Given the description of an element on the screen output the (x, y) to click on. 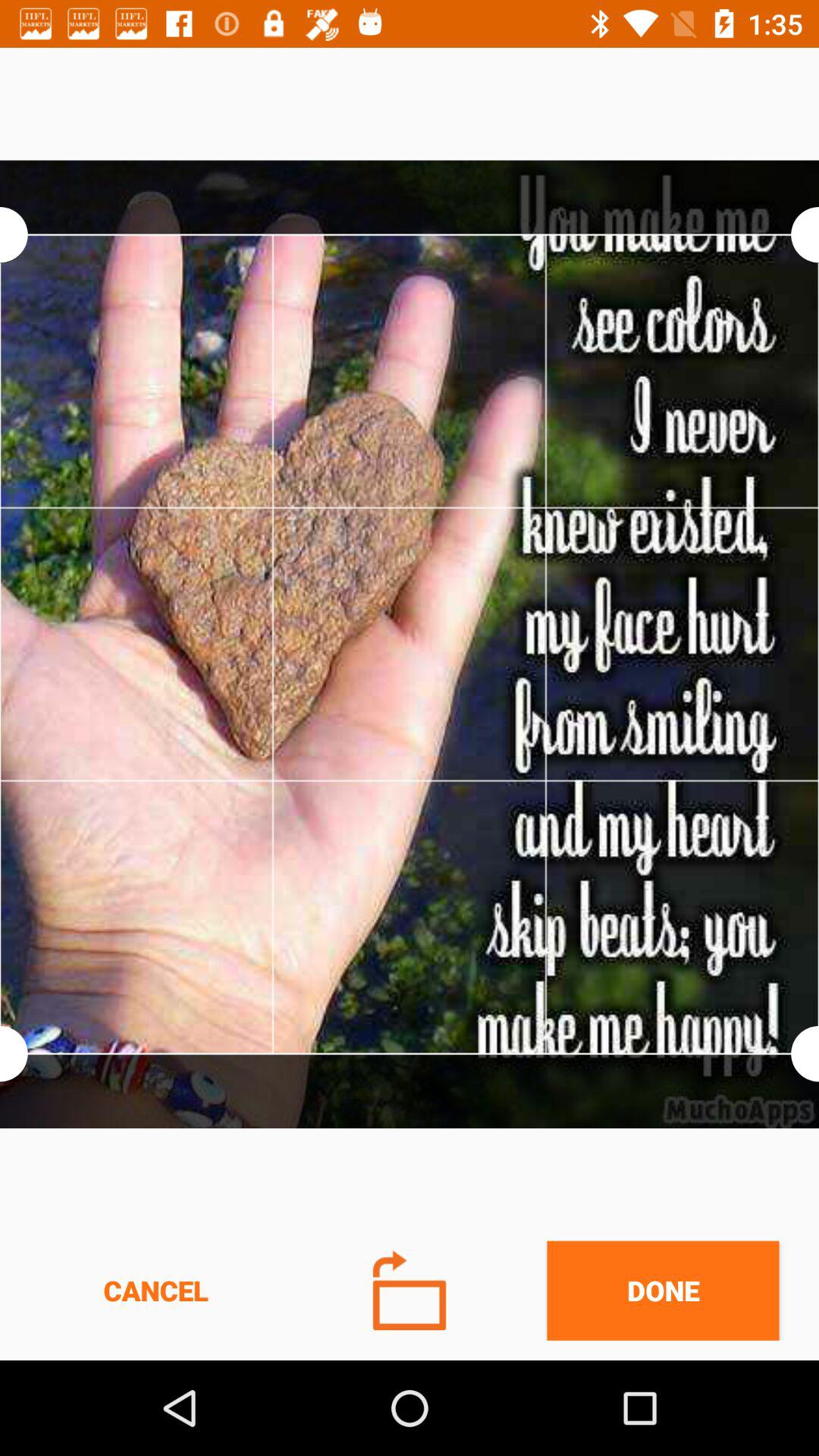
turn on button next to the cancel icon (409, 1290)
